Given the description of an element on the screen output the (x, y) to click on. 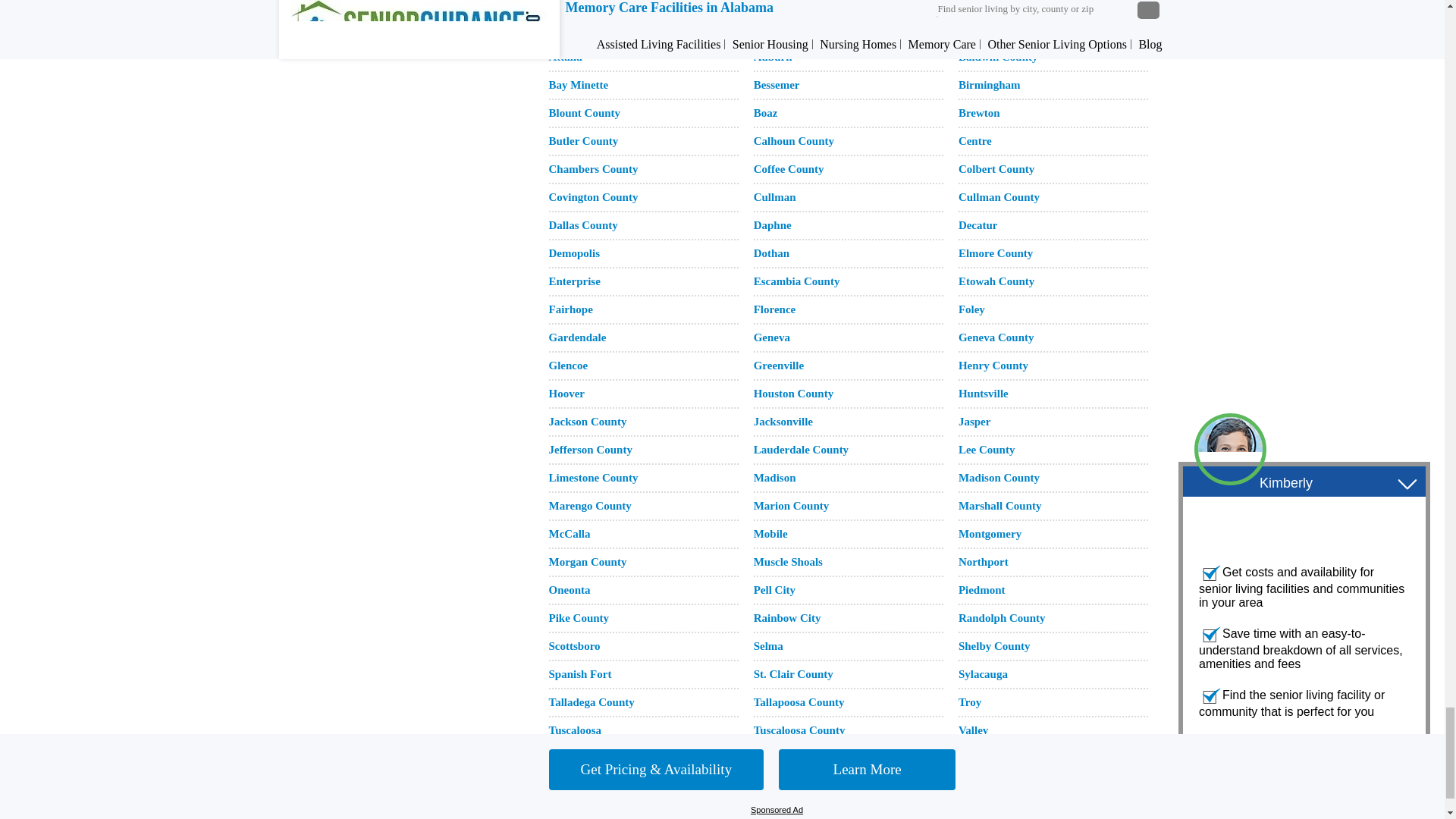
Baldwin County (998, 56)
Andalusia (573, 28)
Alexander City (995, 3)
Arab (971, 28)
Memory Care Facilities in Anniston, AL (775, 28)
Memory Care Facilities in Arab, AL (971, 28)
Albertville (779, 3)
Bessemer (776, 84)
Attalla (565, 56)
Memory Care Facilities in Andalusia, AL (573, 28)
Bay Minette (578, 84)
Memory Care Facilities in Abbeville, AL (571, 3)
Anniston (775, 28)
Memory Care Facilities in Alexander City, AL (995, 3)
Memory Care Facilities in Albertville, AL (779, 3)
